Given the description of an element on the screen output the (x, y) to click on. 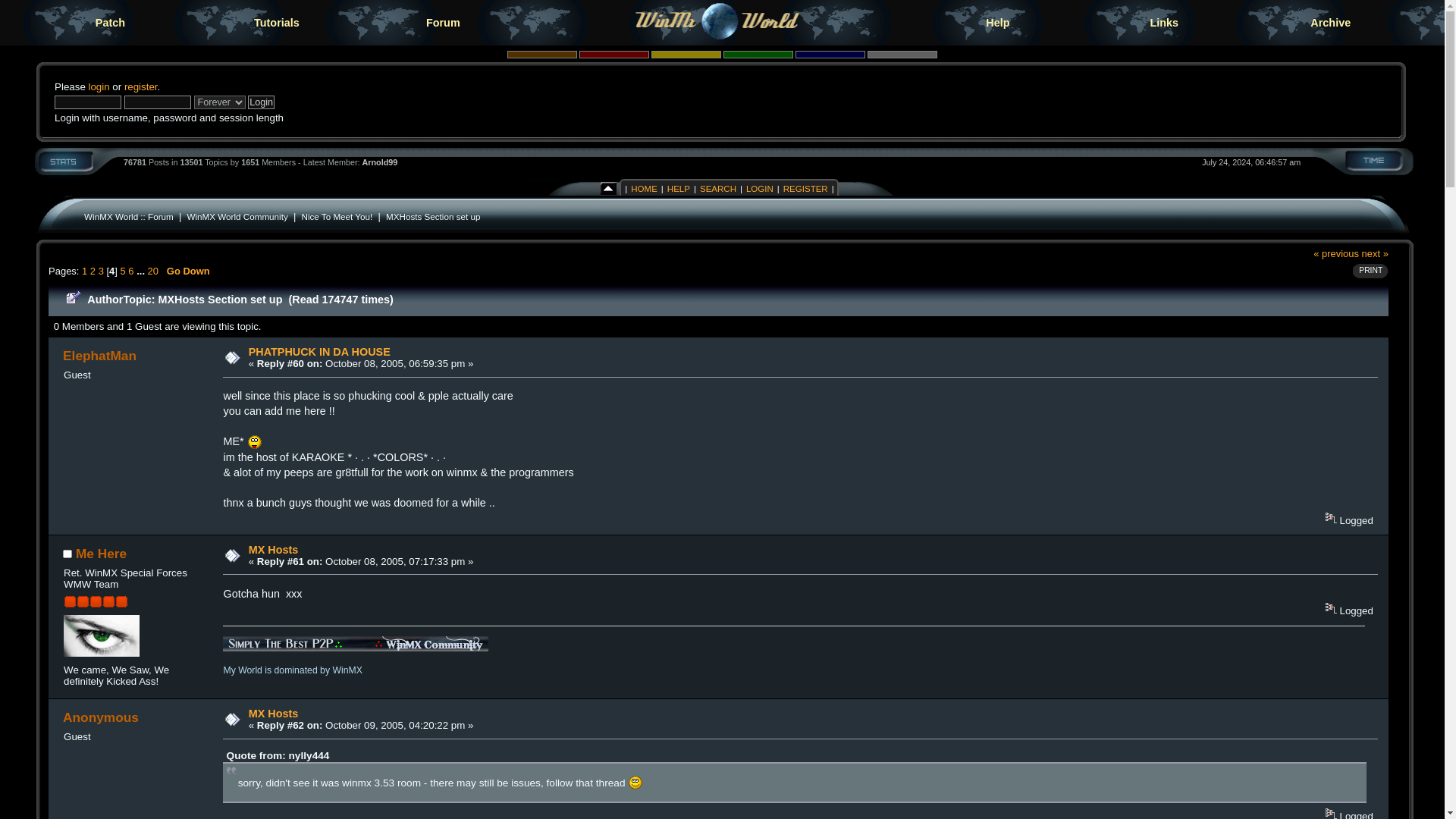
View the profile of Me Here (100, 553)
brown (541, 54)
5 (122, 270)
WinMX World :: Forum (128, 215)
PRINT (1366, 271)
blue (829, 54)
Help (998, 22)
HOME (644, 188)
PHATPHUCK IN DA HOUSE (319, 351)
Tutorials (276, 22)
green (757, 54)
HELP (678, 188)
golden (685, 54)
Login (261, 101)
SEARCH (717, 188)
